Given the description of an element on the screen output the (x, y) to click on. 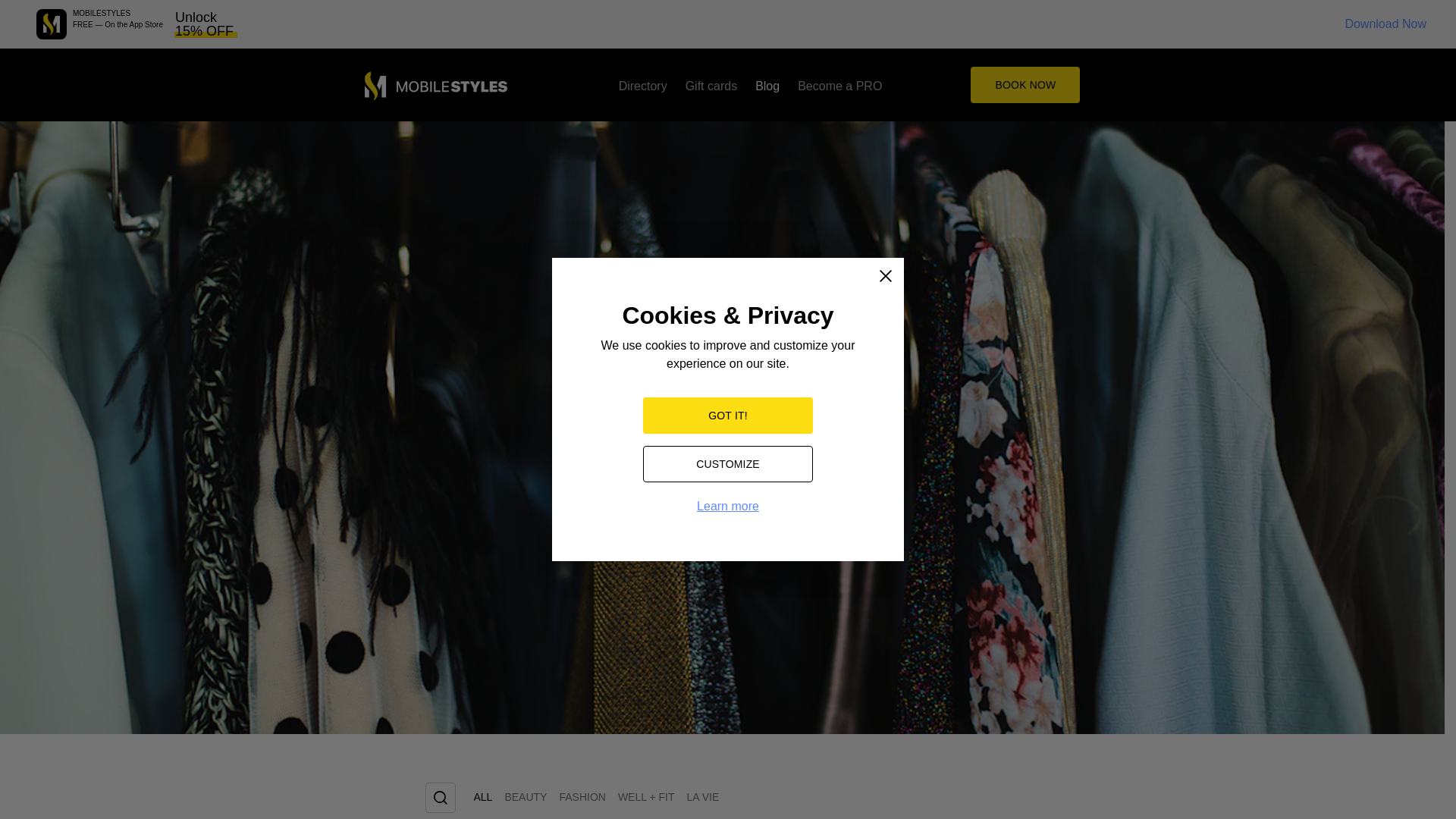
Download Now (1384, 24)
Service and PRO directory (642, 84)
Blogs fashion category (582, 801)
ALL (482, 801)
Go Home (435, 86)
FASHION (582, 801)
Blog (766, 84)
Read our blogs (766, 84)
BOOK NOW (1025, 84)
Become a PRO (839, 84)
Blogs beauty category (525, 801)
Gift cards (710, 84)
BEAUTY (525, 801)
Download MOBILESTYLES APP Now (51, 24)
Download MOBILESTYLES APP Now (1384, 24)
